Given the description of an element on the screen output the (x, y) to click on. 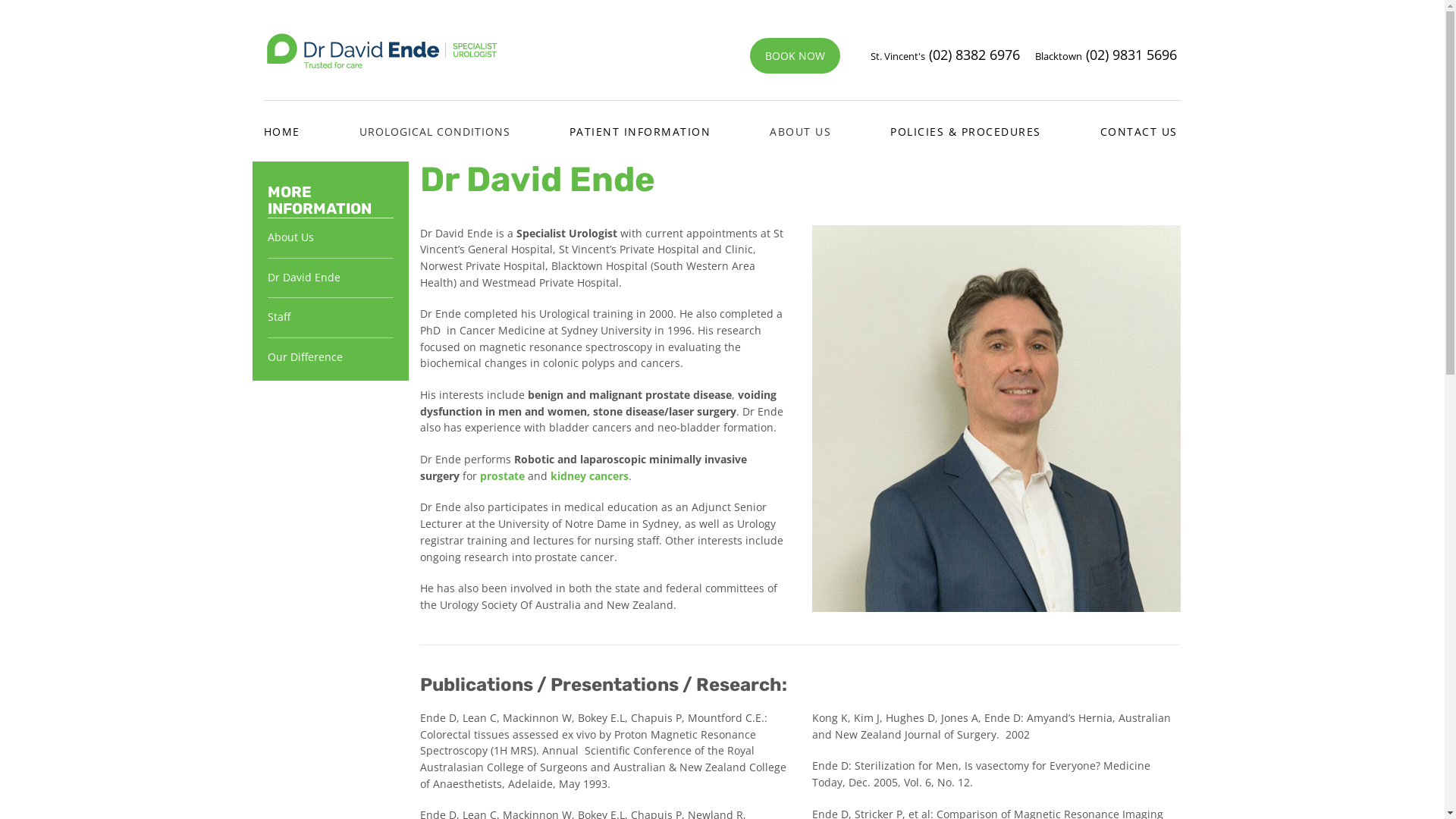
CONTACT US Element type: text (1137, 119)
Our Difference Element type: text (304, 356)
HOME Element type: text (281, 119)
St. Vincent's (02) 8382 6976 Element type: text (944, 54)
About Us Element type: text (289, 236)
BOOK NOW Element type: text (794, 55)
Dr David Ende Element type: text (302, 276)
Staff Element type: text (277, 316)
prostate Element type: text (503, 475)
PATIENT INFORMATION Element type: text (639, 119)
Blacktown (02) 9831 5696 Element type: text (1099, 54)
kidney cancers Element type: text (589, 475)
UROLOGICAL CONDITIONS Element type: text (434, 119)
ABOUT US Element type: text (800, 119)
POLICIES & PROCEDURES Element type: text (965, 119)
